Given the description of an element on the screen output the (x, y) to click on. 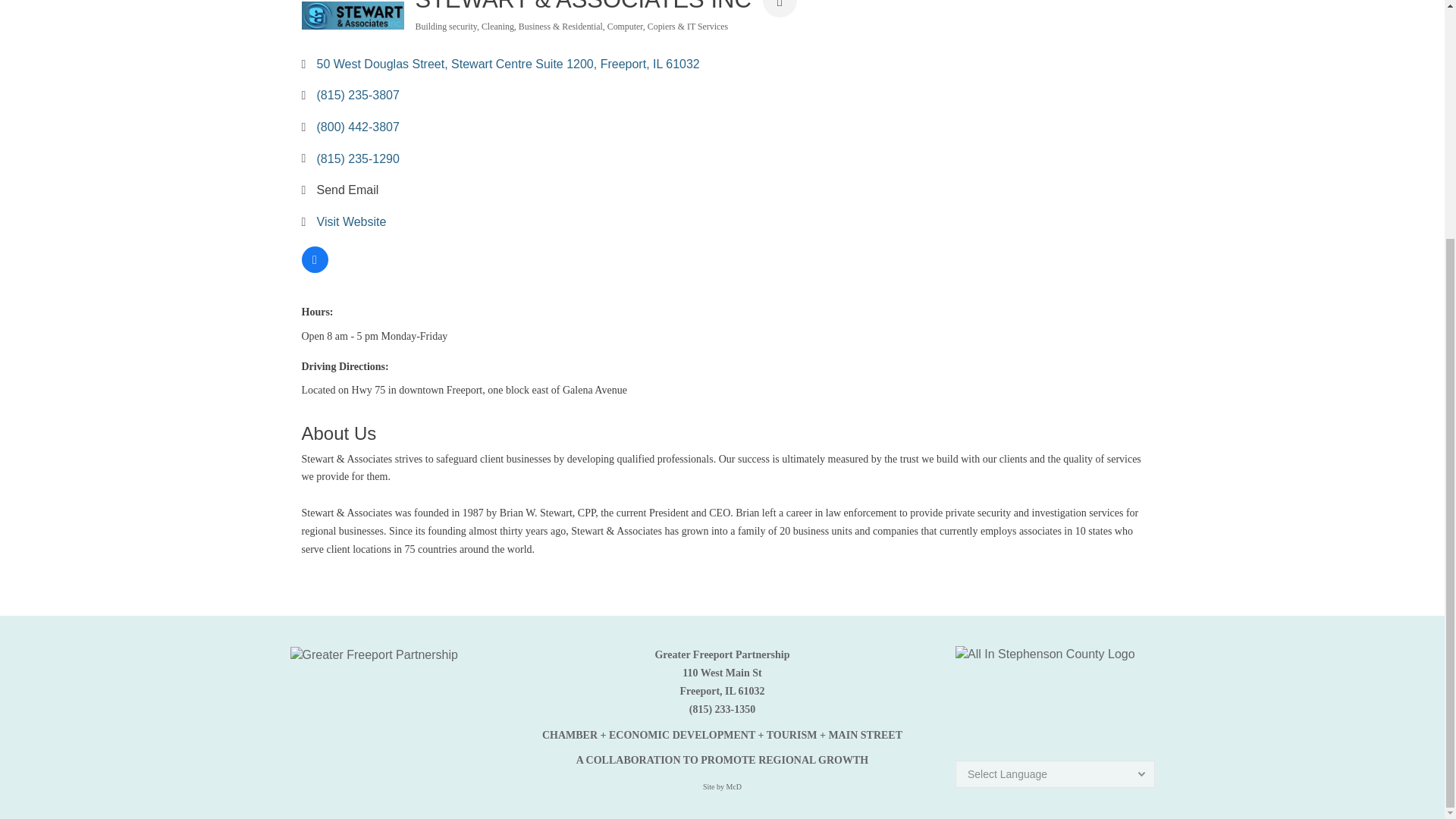
View on Facebook (315, 268)
